Given the description of an element on the screen output the (x, y) to click on. 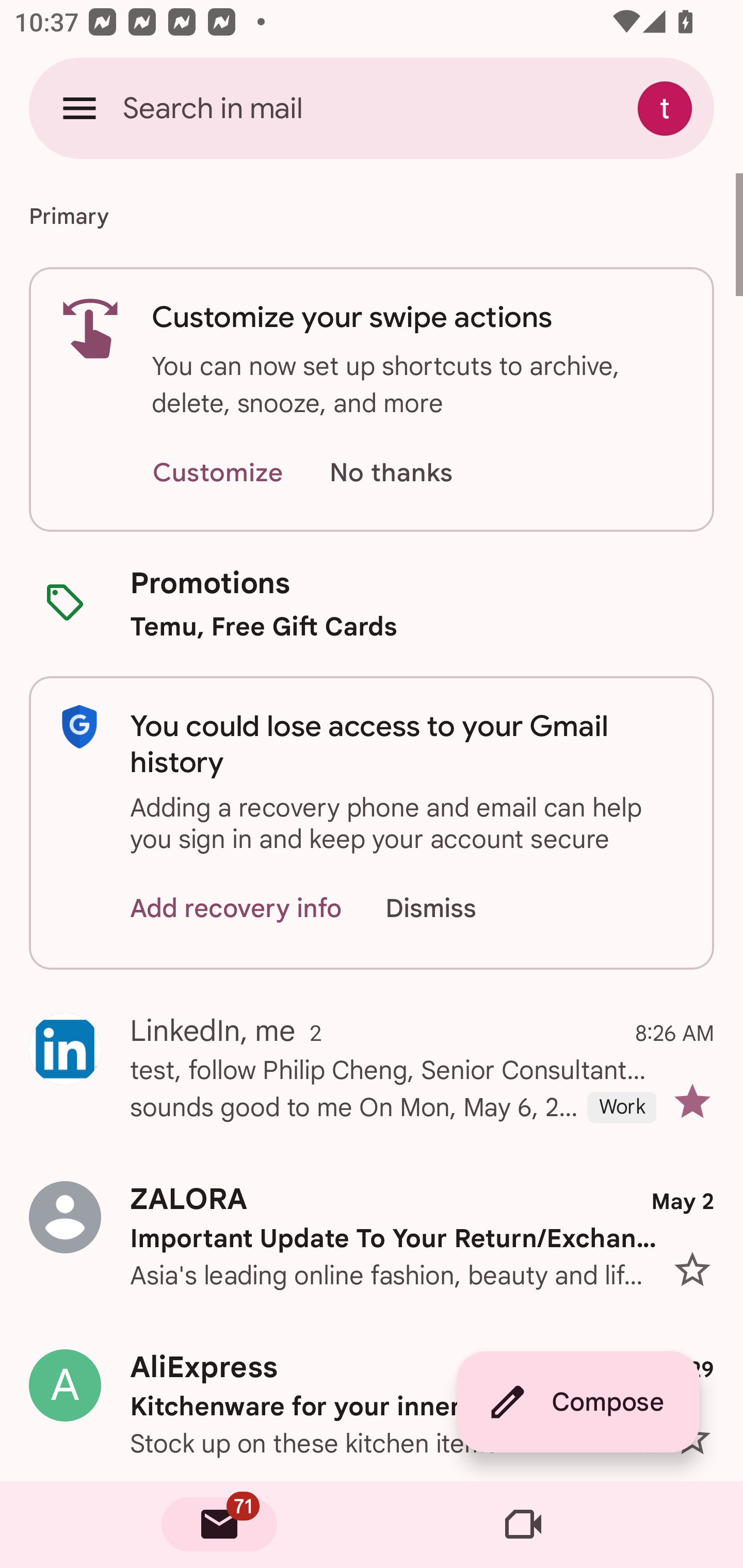
Open navigation drawer (79, 108)
Customize (217, 473)
No thanks (390, 473)
Promotions Temu, Free Gift Cards (371, 603)
Add recovery info (235, 908)
Dismiss (449, 908)
Compose (577, 1401)
Meet (523, 1524)
